Given the description of an element on the screen output the (x, y) to click on. 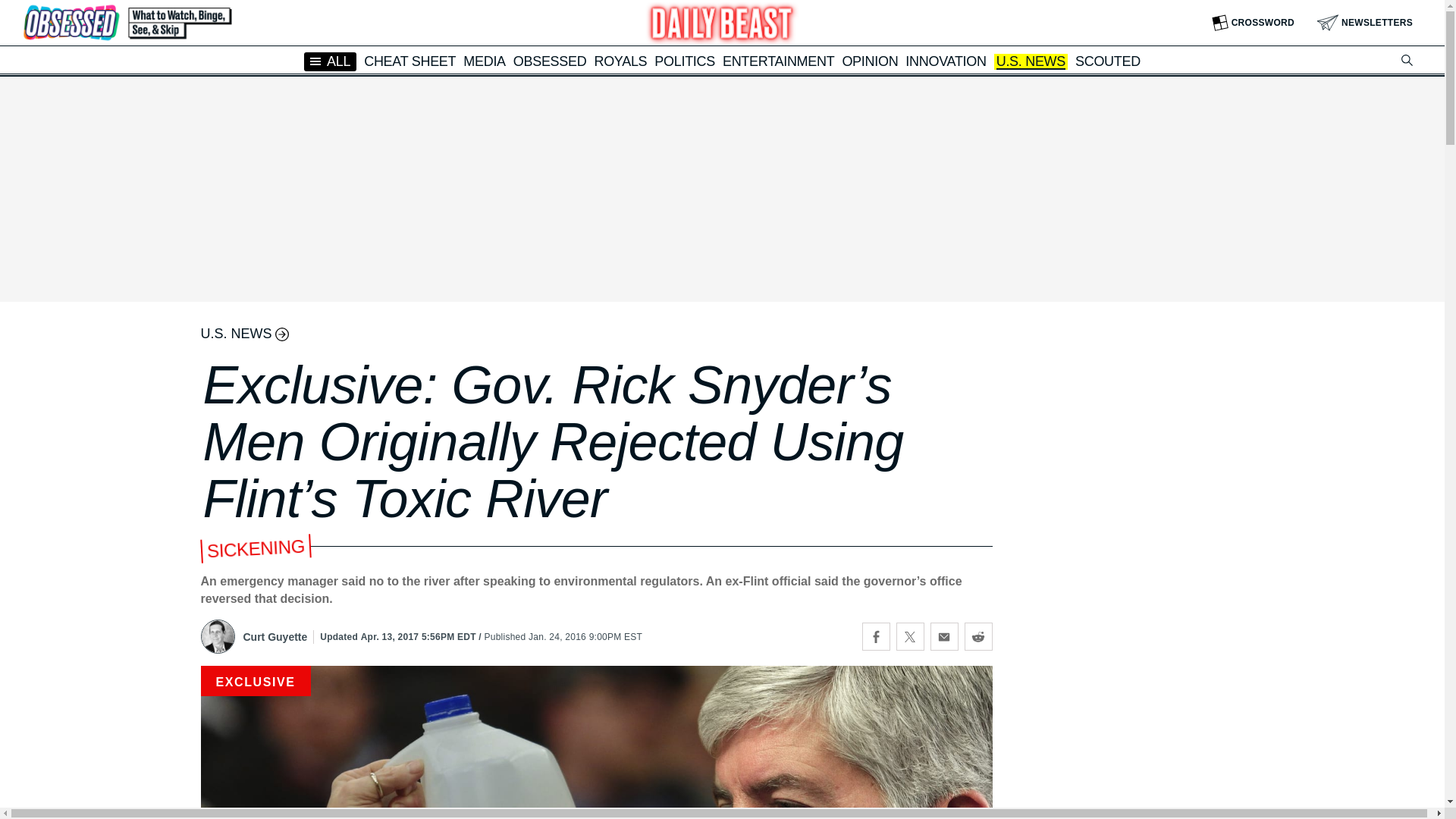
NEWSLETTERS (1364, 22)
ENTERTAINMENT (778, 60)
U.S. NEWS (1030, 61)
OBSESSED (549, 60)
CHEAT SHEET (409, 60)
MEDIA (484, 60)
SCOUTED (1107, 60)
ALL (330, 60)
ROYALS (620, 60)
POLITICS (683, 60)
INNOVATION (945, 60)
OPINION (869, 60)
CROSSWORD (1252, 22)
